Given the description of an element on the screen output the (x, y) to click on. 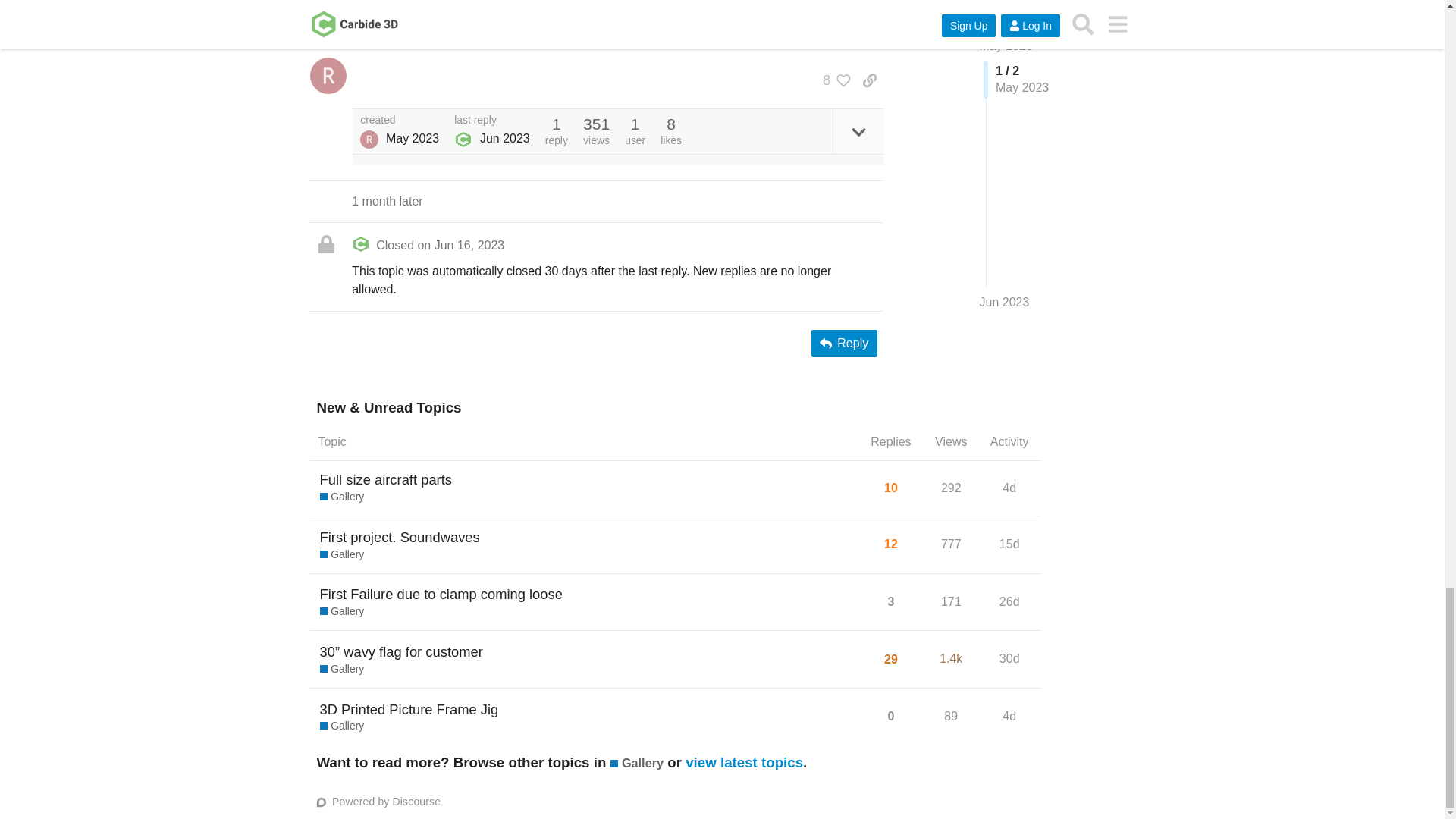
last reply (491, 120)
Gallery (342, 497)
8 (832, 80)
Scott Rossi (368, 139)
4d (1009, 488)
Reply (843, 343)
expand topic details (857, 130)
Full size aircraft parts (385, 479)
copy a link to this post to clipboard (869, 80)
10 (890, 488)
8 people liked this post (832, 80)
First project. Soundwaves (400, 536)
